Given the description of an element on the screen output the (x, y) to click on. 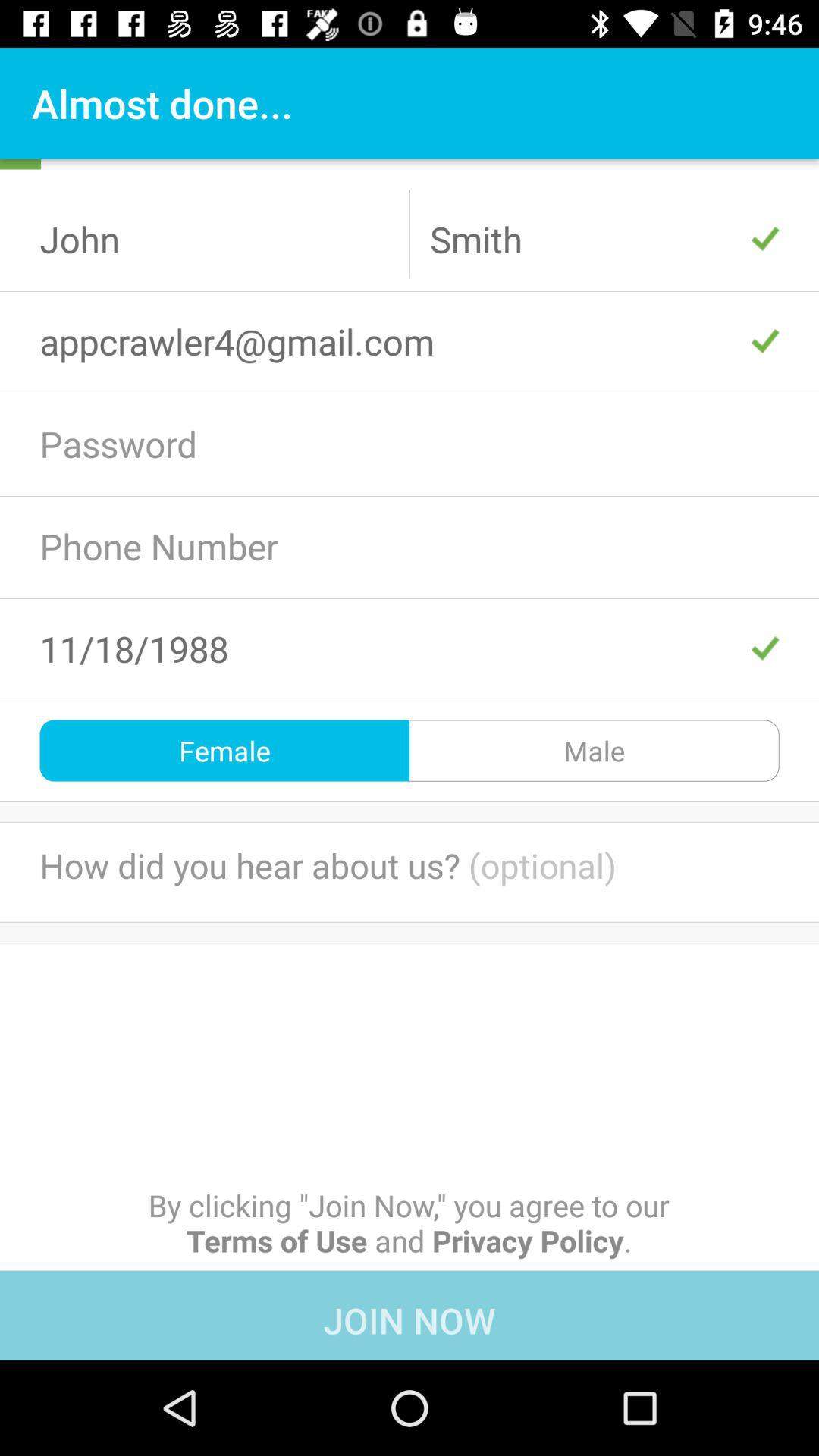
choose the item to the left of the male icon (224, 750)
